Given the description of an element on the screen output the (x, y) to click on. 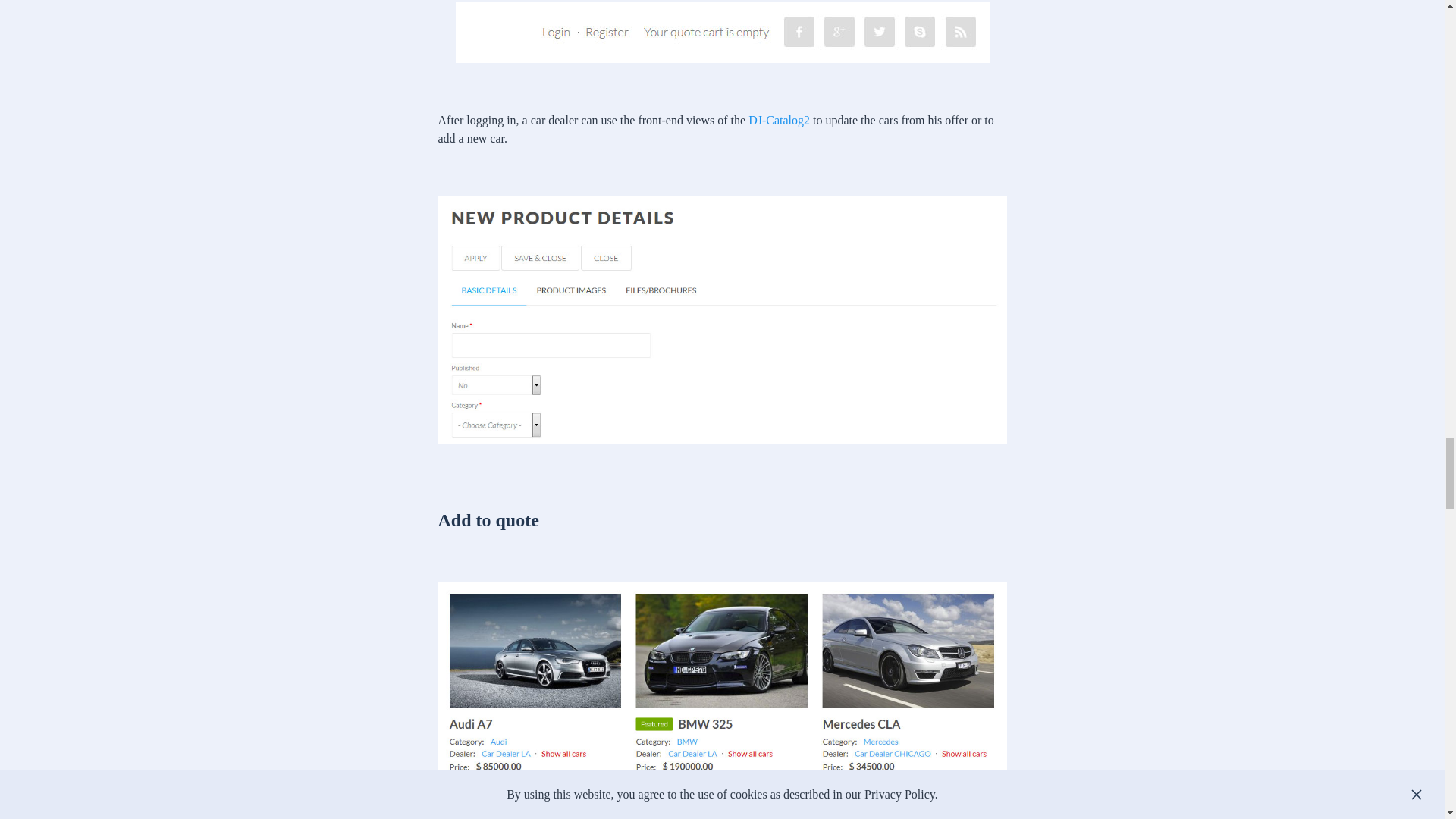
DJ-Catalog2 (778, 119)
DJ-Catalog2 (778, 119)
